Given the description of an element on the screen output the (x, y) to click on. 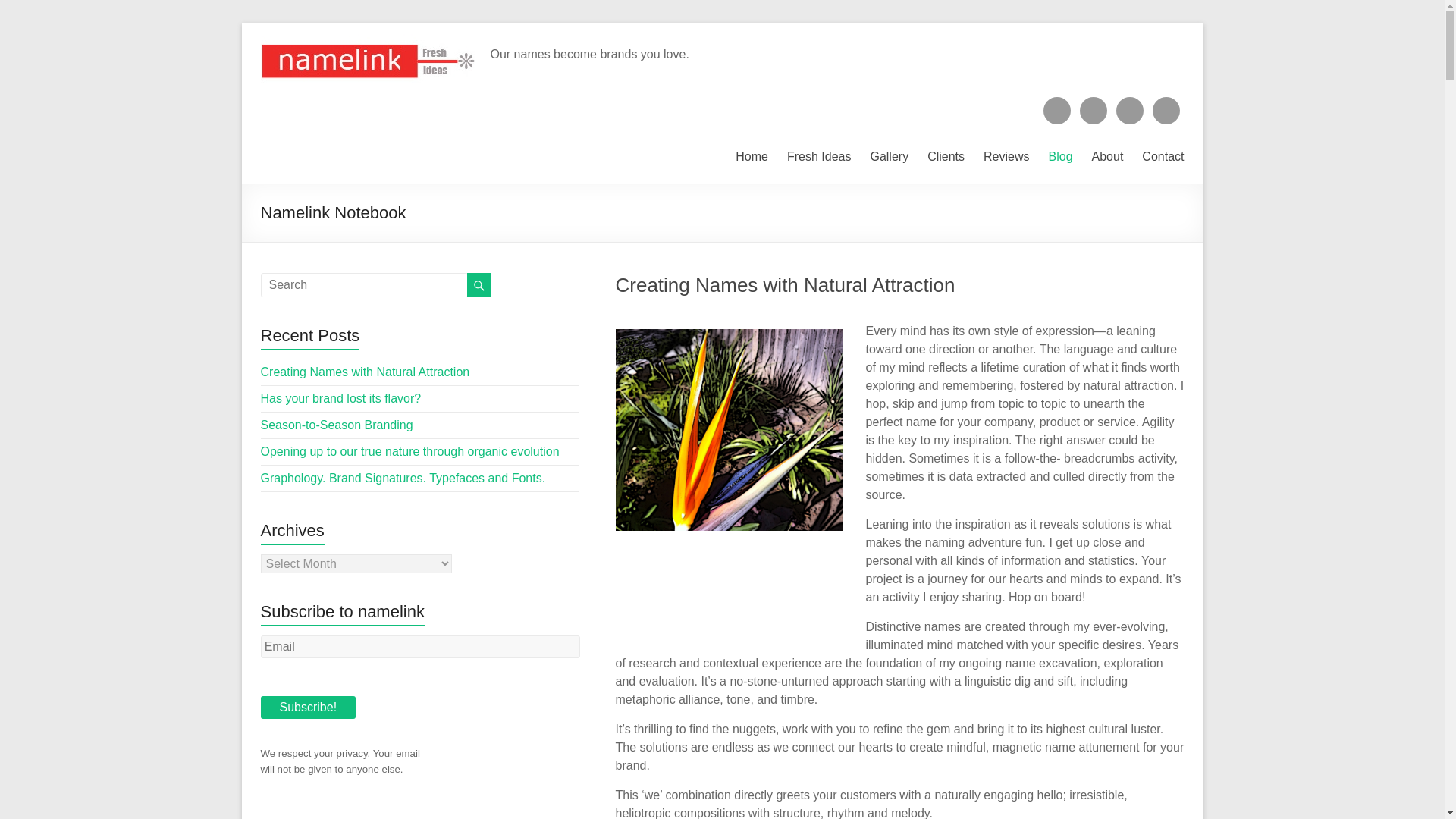
Creating Names with Natural Attraction (785, 284)
Subscribe! (308, 707)
Fresh Ideas (818, 154)
About (1108, 154)
Creating Names with Natural Attraction (785, 284)
Gallery (888, 154)
Contact (1162, 154)
Reviews (1006, 154)
Home (751, 154)
Clients (945, 154)
